Given the description of an element on the screen output the (x, y) to click on. 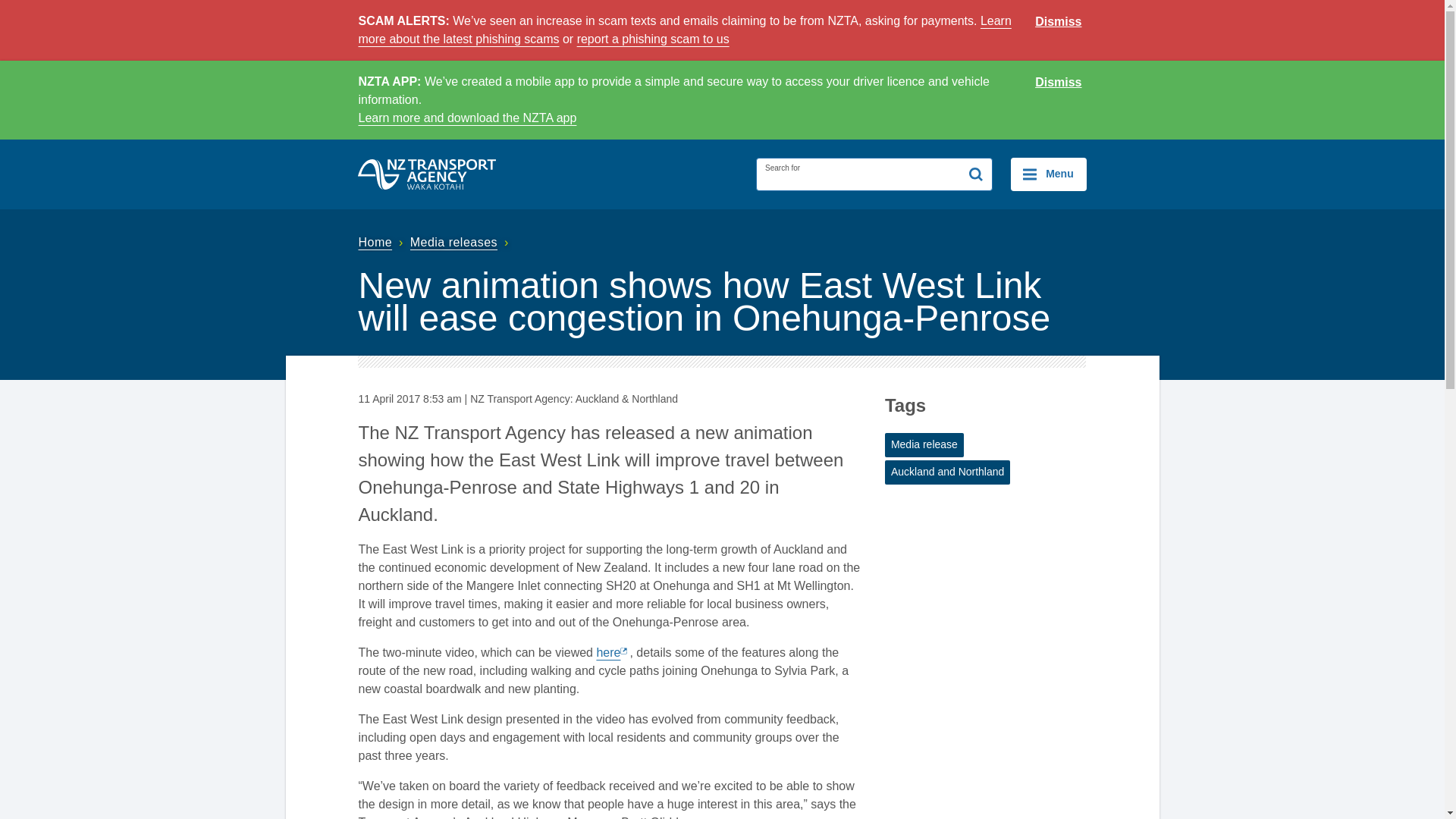
Dismiss (1058, 82)
View all posts tagged 'Media release' (924, 445)
Menu (1048, 174)
NZ Transport Agency Waka Kotahi (427, 173)
report a phishing scam to us (652, 38)
Home (382, 241)
Learn more and download the NZTA app (467, 117)
Dismiss (1058, 21)
View all posts tagged 'Auckland and Northland' (947, 472)
Learn more about the latest phishing scams (684, 29)
